Given the description of an element on the screen output the (x, y) to click on. 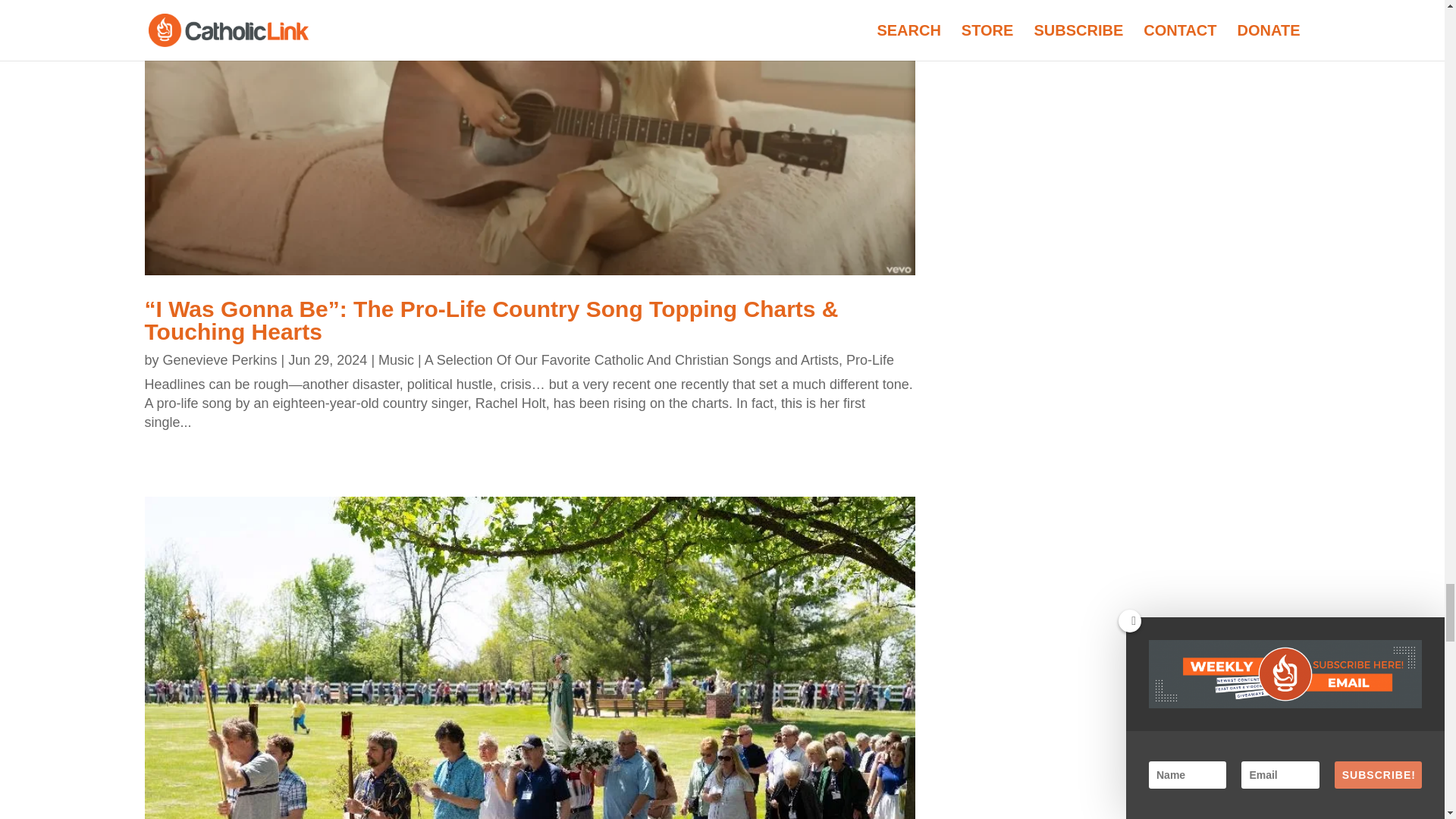
Posts by Genevieve Perkins (220, 359)
